Given the description of an element on the screen output the (x, y) to click on. 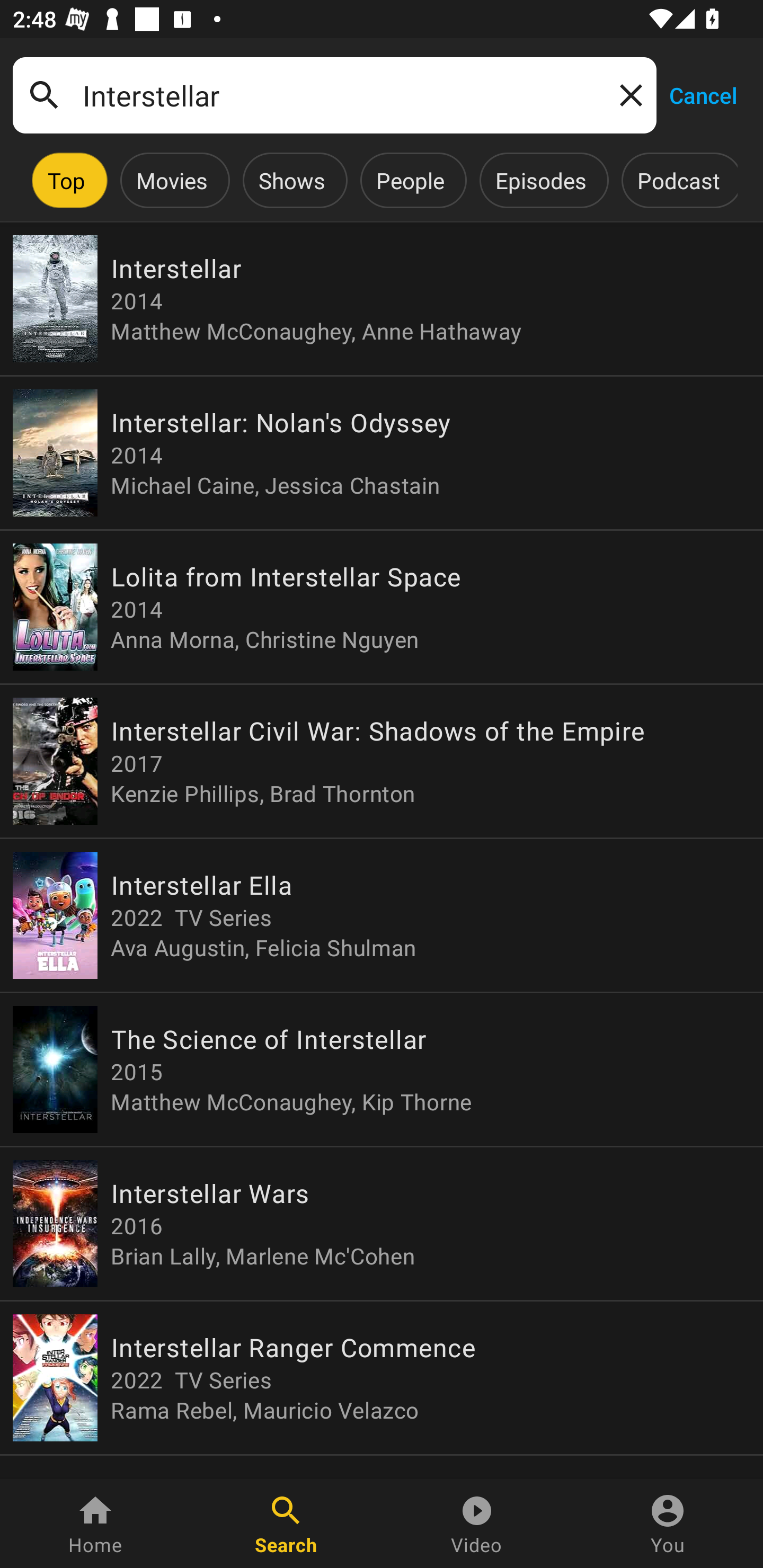
Clear query (627, 94)
Cancel (703, 94)
Interstellar (334, 95)
Top (66, 180)
Movies (171, 180)
Shows (291, 180)
People (410, 180)
Episodes (540, 180)
Podcast (678, 180)
Home (95, 1523)
Video (476, 1523)
You (667, 1523)
